Given the description of an element on the screen output the (x, y) to click on. 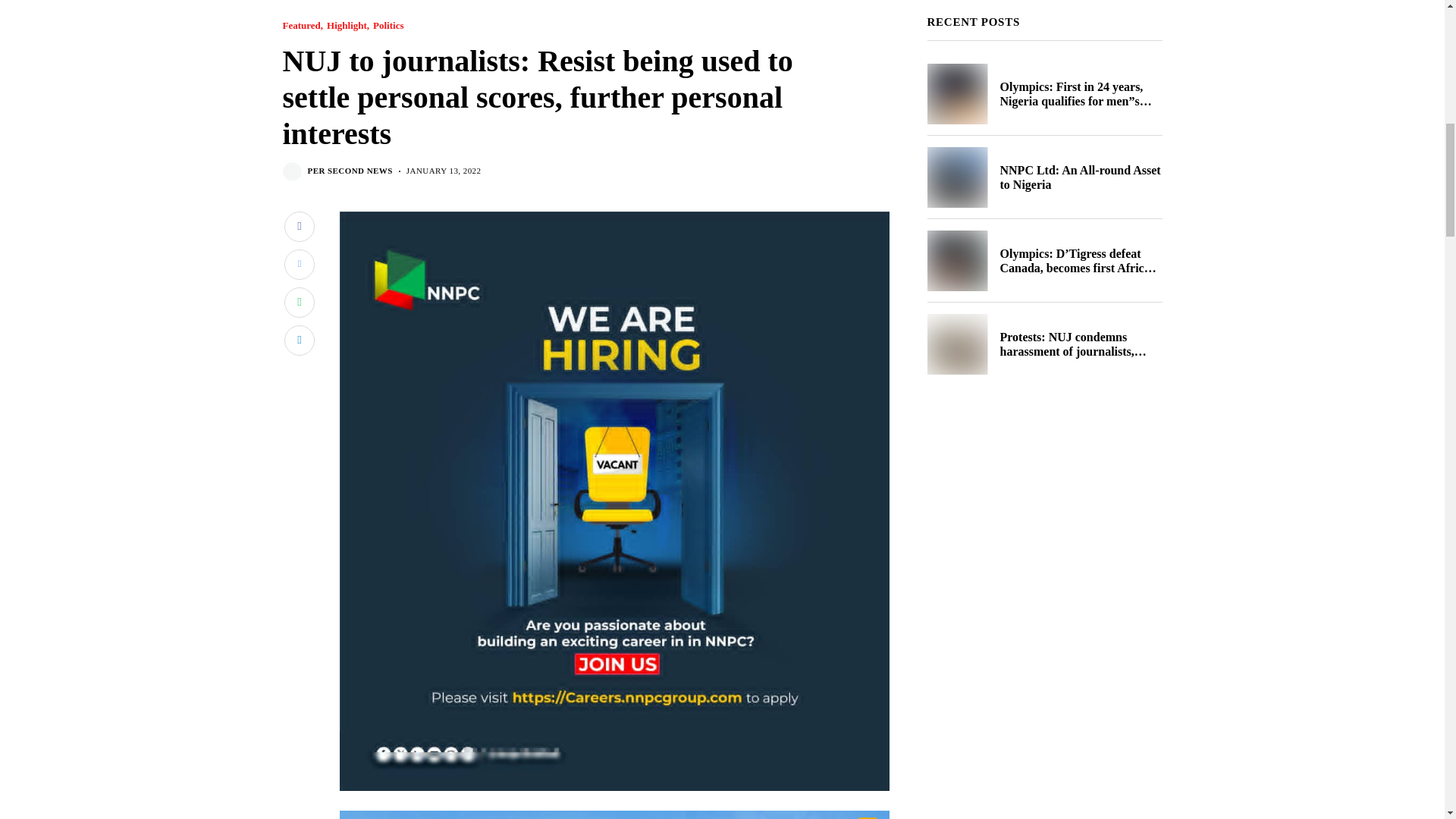
Posts by Per Second News (350, 171)
